Given the description of an element on the screen output the (x, y) to click on. 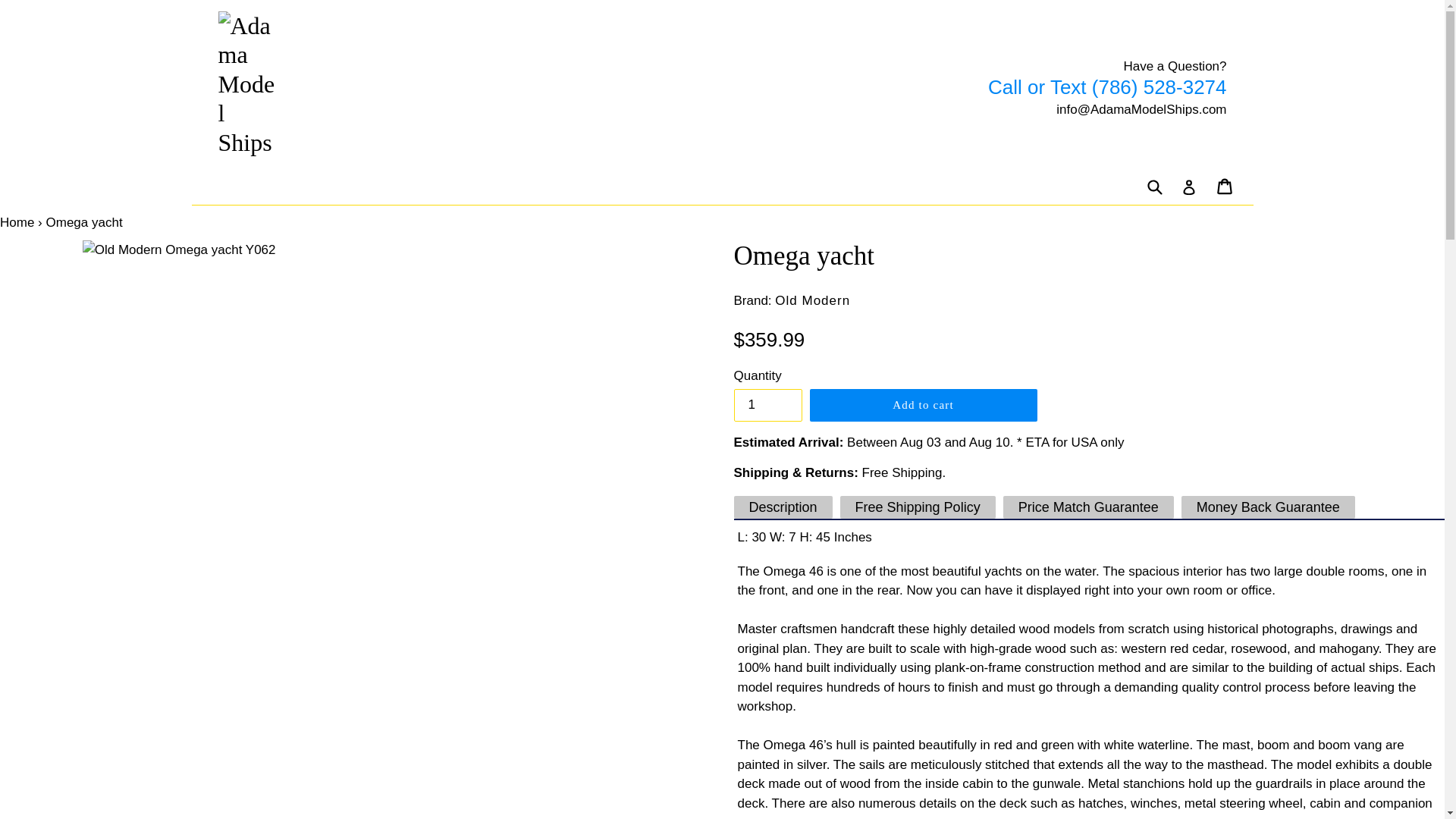
Money Back Guarantee (1267, 507)
Free Shipping Policy (917, 507)
Home (16, 222)
Price Match Guarantee (1088, 507)
Description (782, 507)
1 (767, 404)
Home (16, 222)
Add to cart (922, 405)
